Given the description of an element on the screen output the (x, y) to click on. 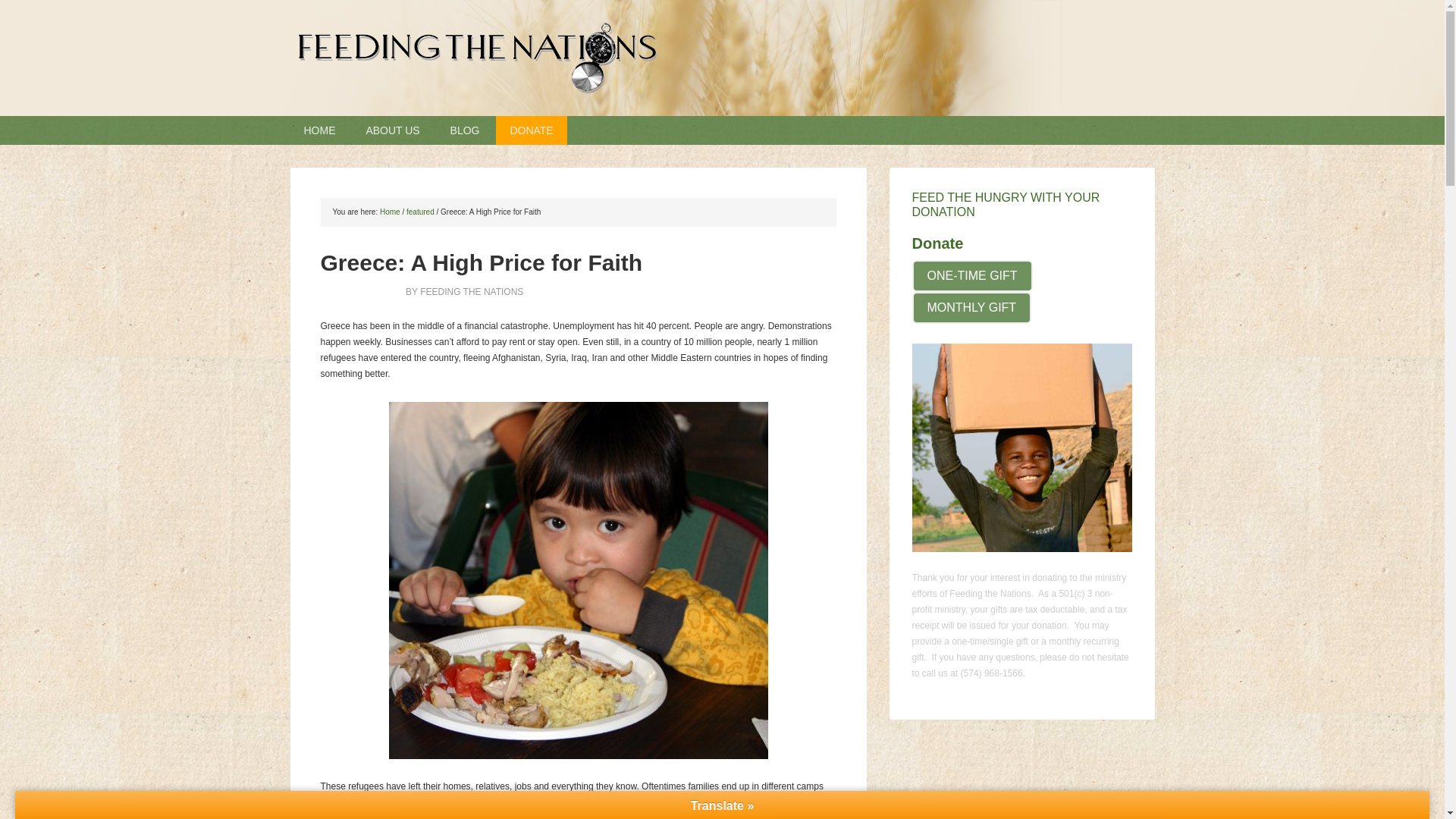
BLOG (464, 130)
FEEDING THE NATIONS (471, 291)
HOME (319, 130)
DONATE (531, 130)
featured (419, 212)
FEEDING THE NATIONS (721, 57)
Home (390, 212)
ABOUT US (392, 130)
